Given the description of an element on the screen output the (x, y) to click on. 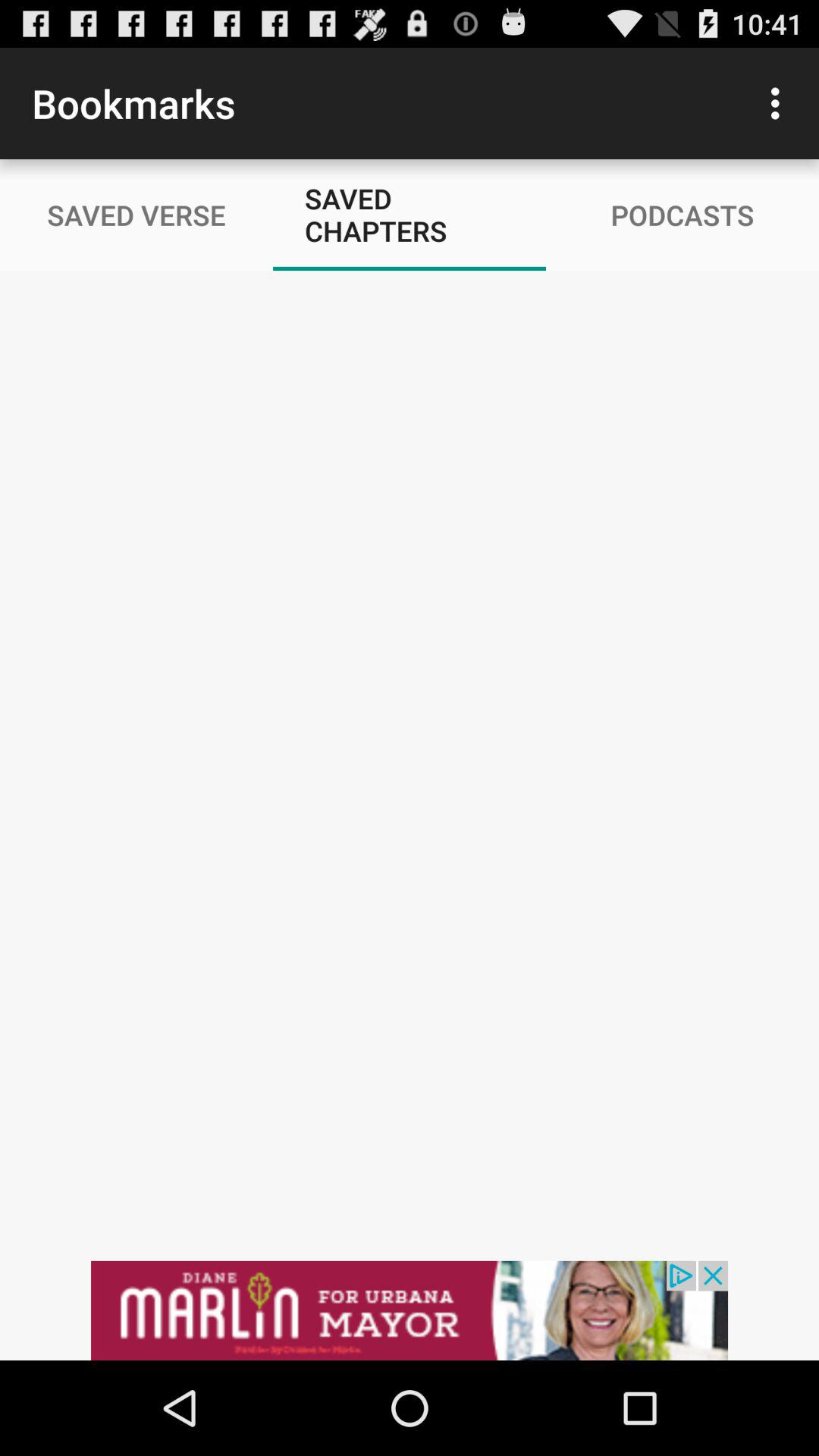
go to advertisement (409, 1310)
